Given the description of an element on the screen output the (x, y) to click on. 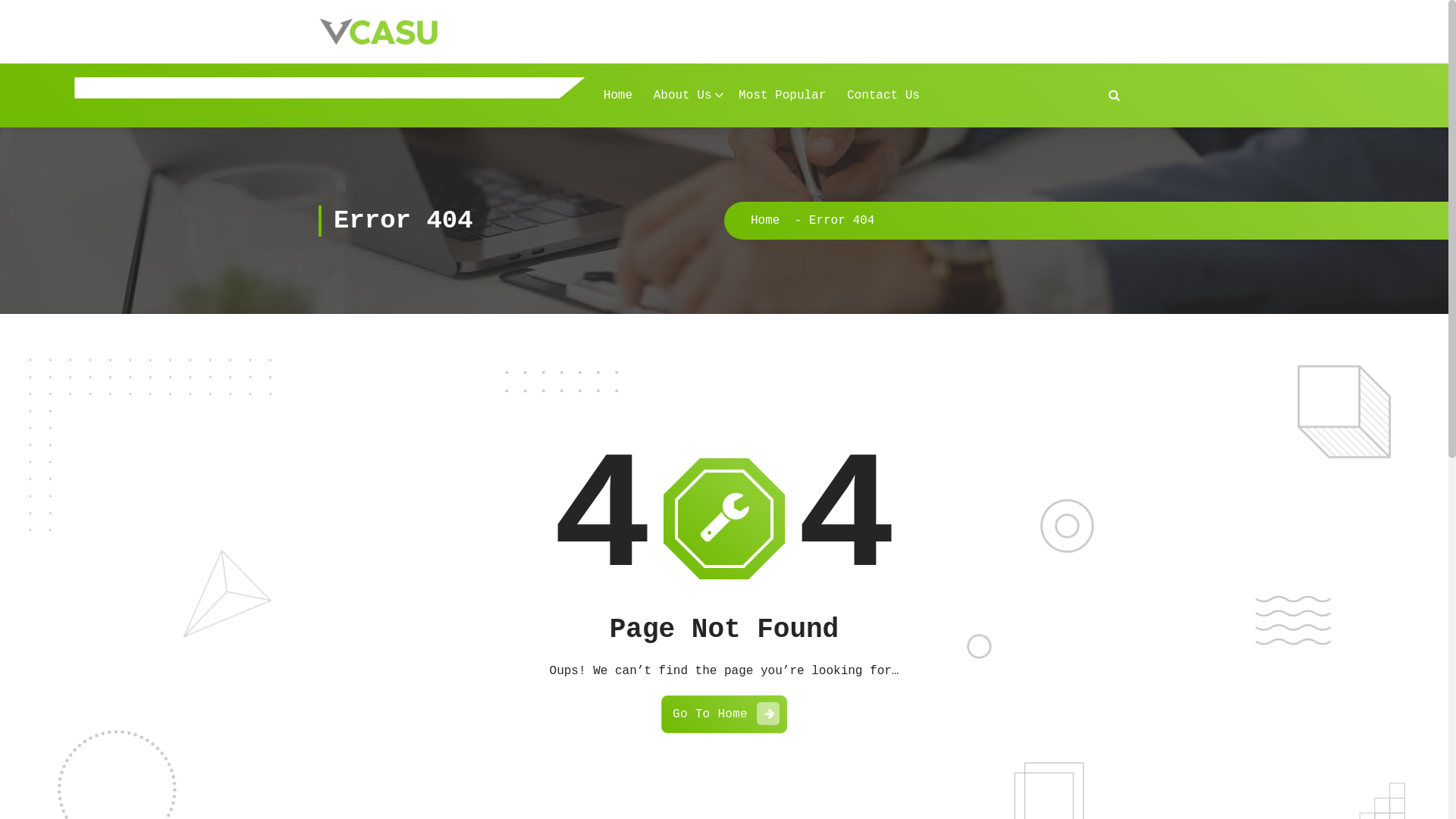
Home Element type: text (764, 220)
Most Popular Element type: text (781, 95)
About Us Element type: text (685, 95)
Contact Us Element type: text (882, 95)
Home Element type: text (617, 95)
Go To Home Element type: text (724, 714)
